Given the description of an element on the screen output the (x, y) to click on. 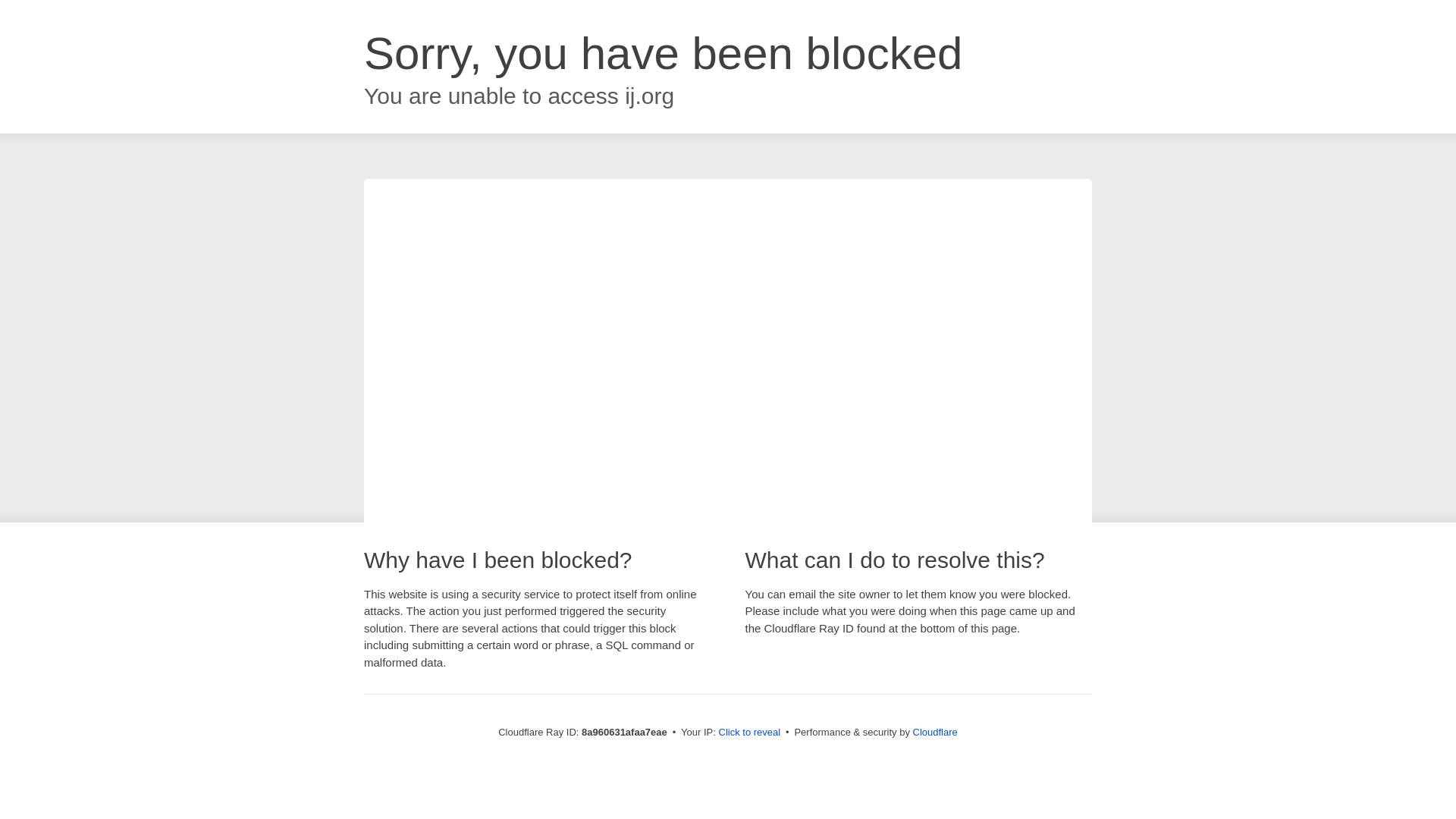
Cloudflare (935, 731)
Click to reveal (749, 732)
